Given the description of an element on the screen output the (x, y) to click on. 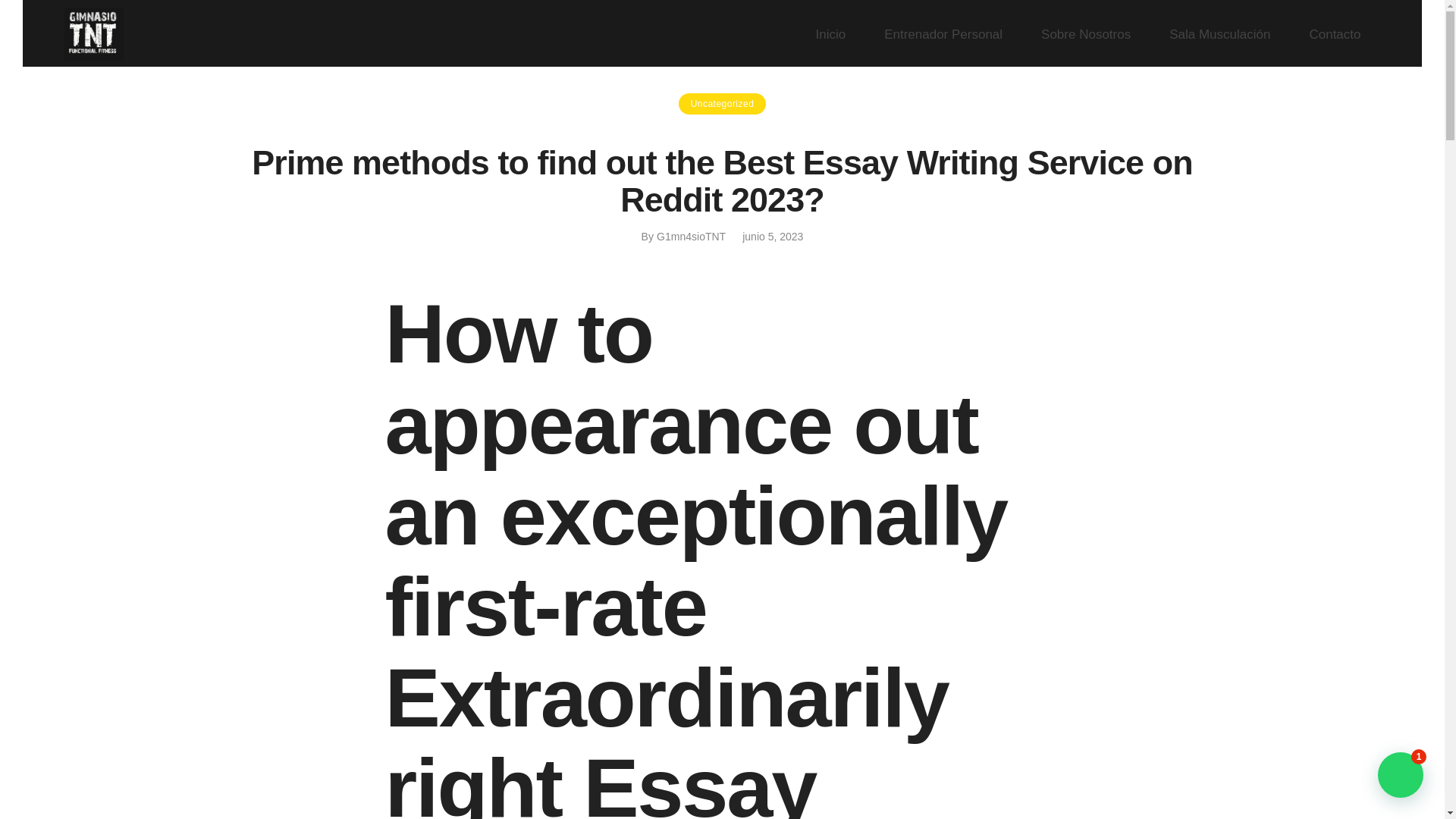
Inicio (839, 33)
Contacto (1335, 33)
Sobre Nosotros (1086, 33)
ByG1mn4sioTNT (684, 236)
Uncategorized (722, 103)
Entrenador Personal (943, 33)
